Given the description of an element on the screen output the (x, y) to click on. 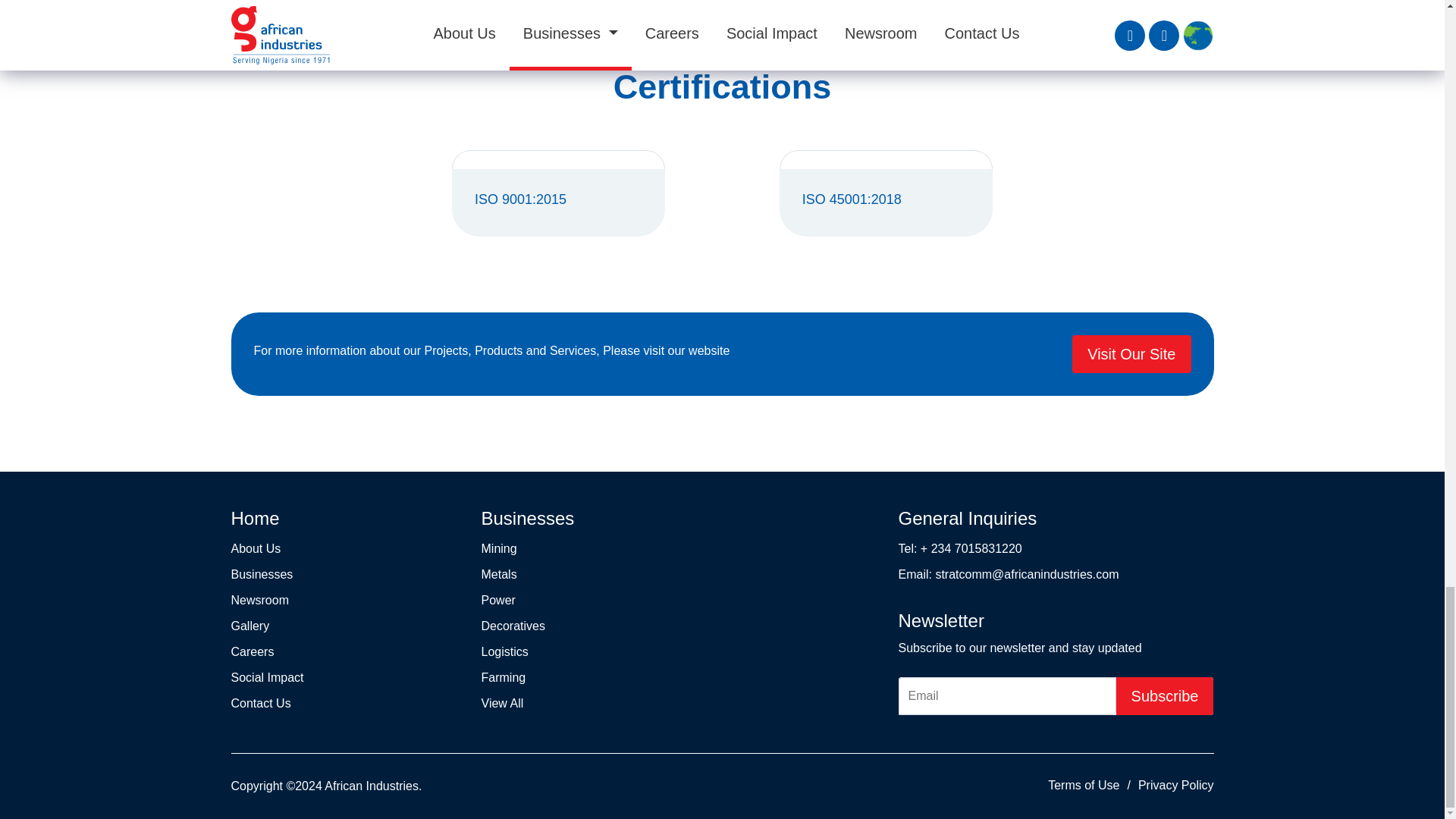
Careers (251, 651)
About Us (255, 548)
Social Impact (266, 676)
Newsroom (259, 599)
Contact Us (259, 703)
Gallery (249, 625)
Businesses (261, 574)
Visit Our Site (1131, 353)
Subscribe (1165, 695)
Mining (498, 548)
